Given the description of an element on the screen output the (x, y) to click on. 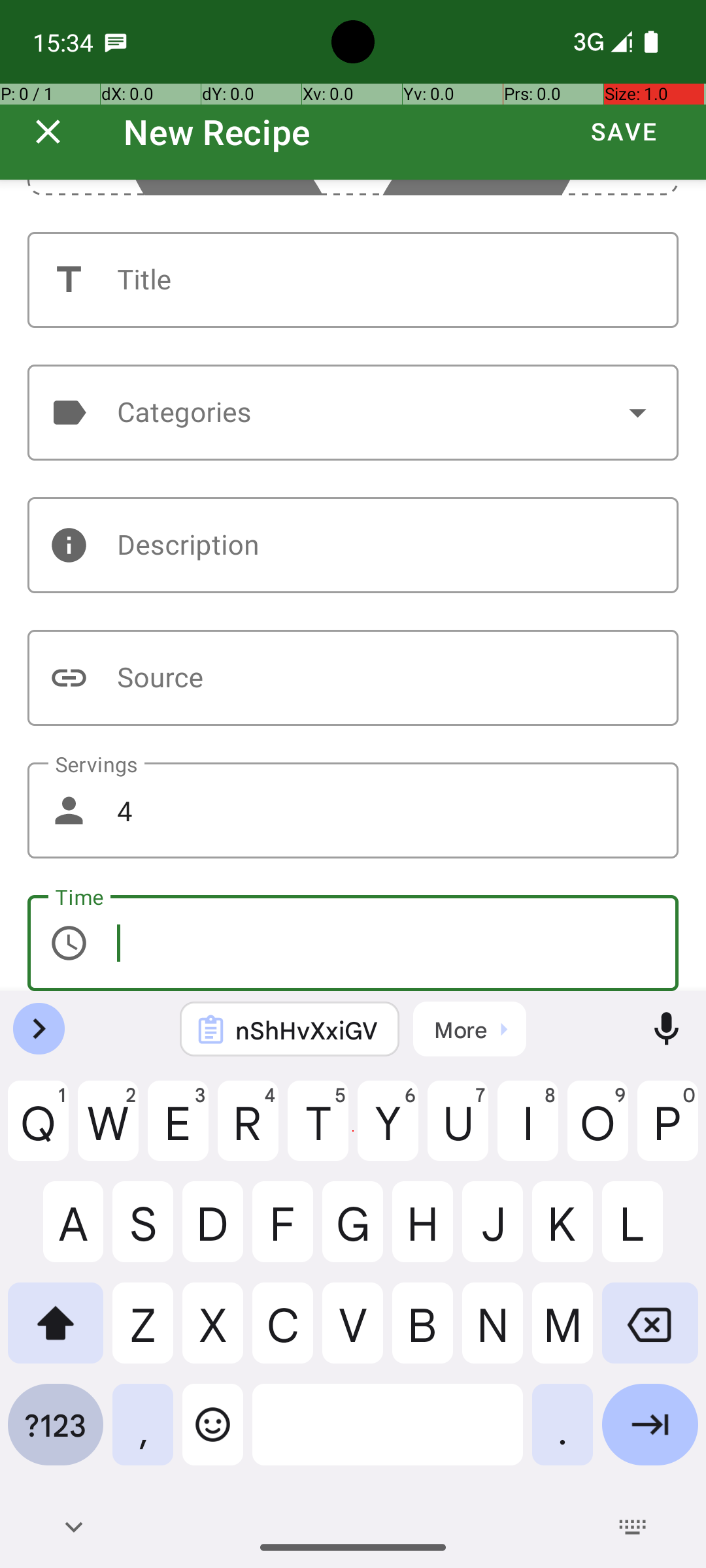
Title Element type: android.widget.EditText (352, 279)
Description Element type: android.widget.EditText (352, 545)
Source Element type: android.widget.EditText (352, 677)
nShHvXxiGV Element type: android.widget.TextView (306, 1029)
